Given the description of an element on the screen output the (x, y) to click on. 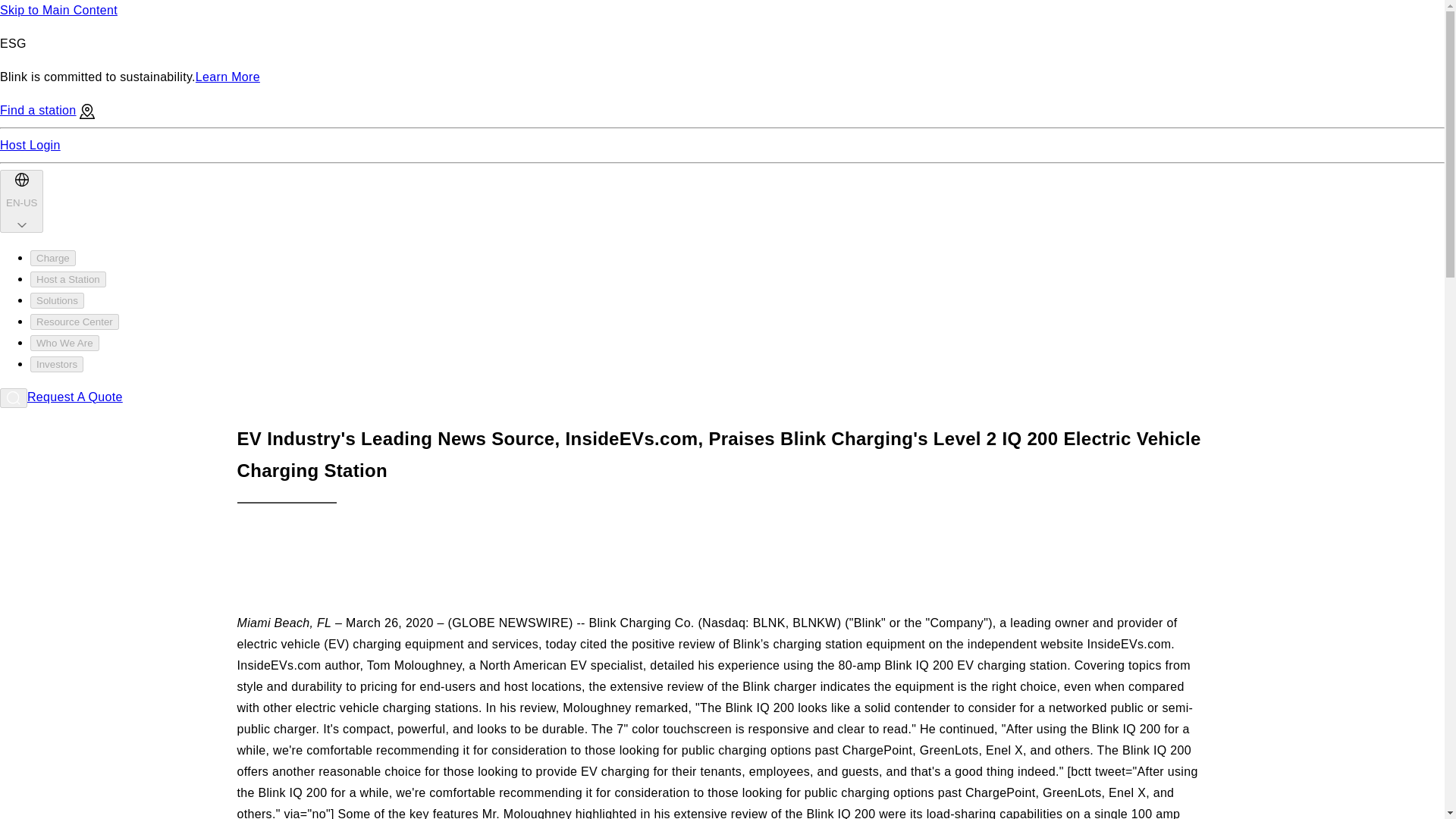
Request A Quote (74, 396)
Who We Are (64, 342)
Learn More (227, 76)
Resource Center (74, 321)
Host a Station (68, 279)
Charge (52, 258)
Skip to Main Content (58, 10)
Host Login (30, 144)
Solutions (57, 300)
Investors (56, 364)
Find a station (47, 110)
